Given the description of an element on the screen output the (x, y) to click on. 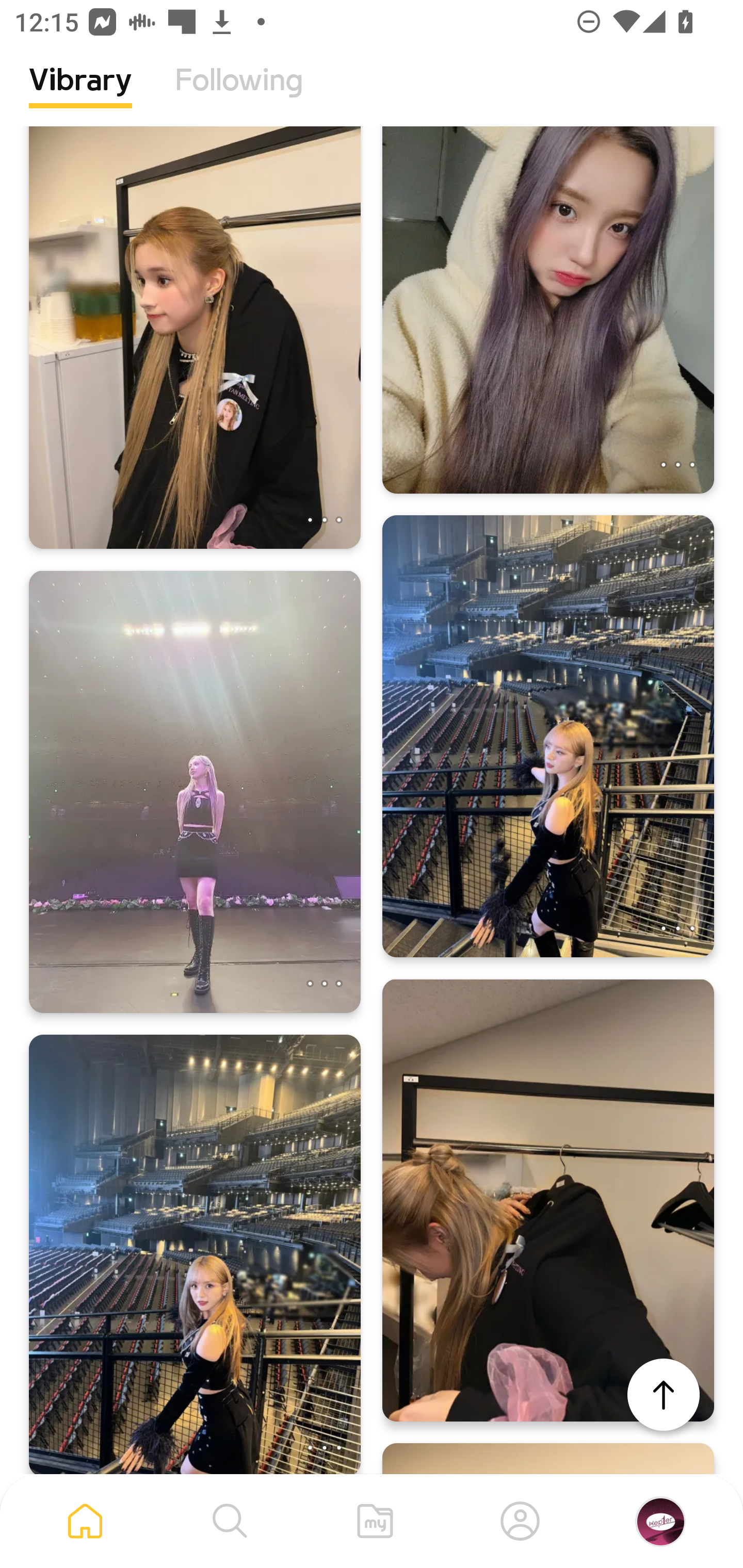
Vibrary (80, 95)
Following (239, 95)
